Given the description of an element on the screen output the (x, y) to click on. 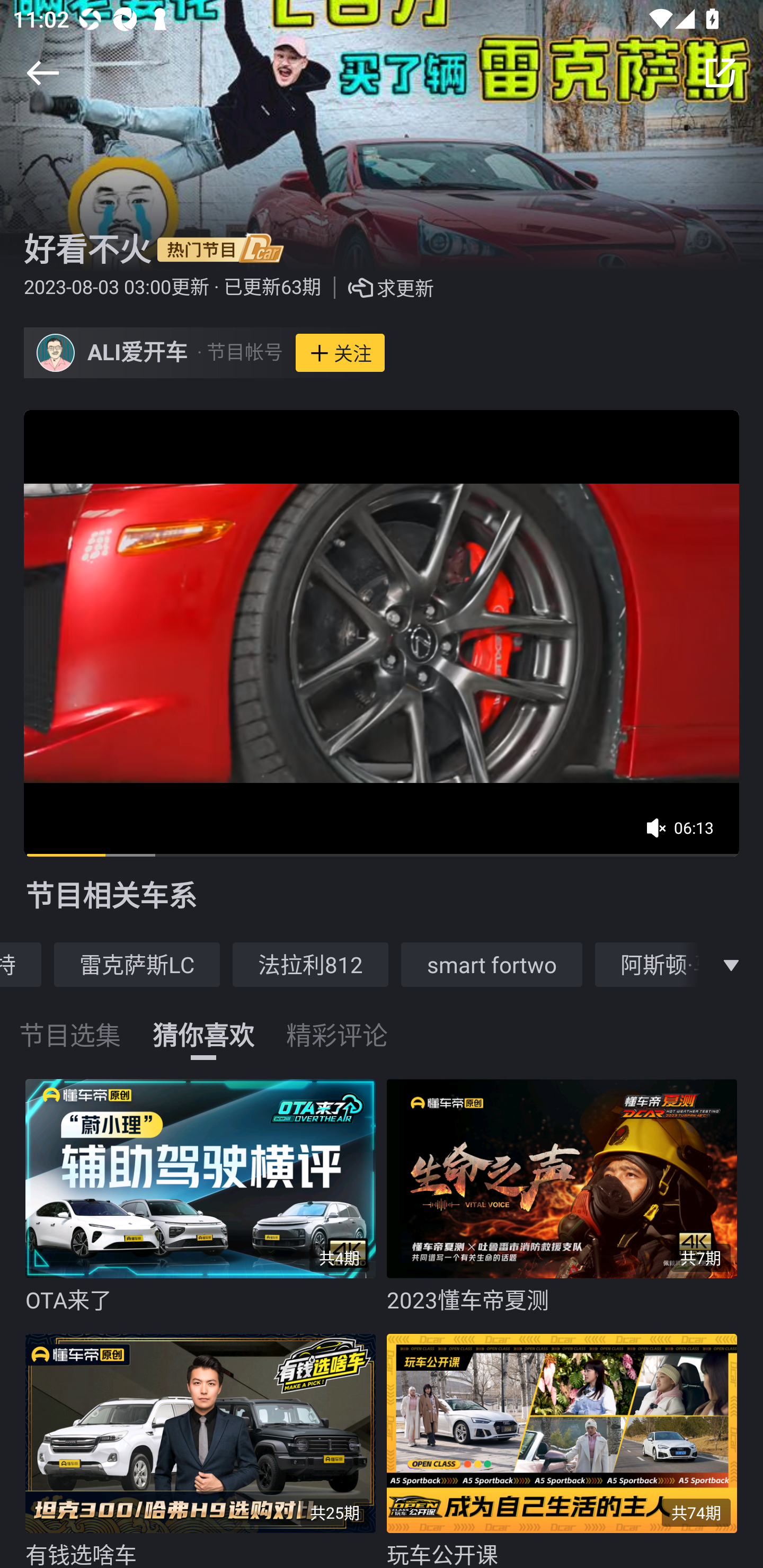
 (42, 72)
 (720, 72)
 求更新 (377, 287)
ALI爱开车 (137, 352)
· 节目帐号 (239, 352)
 关注 (340, 352)
06:13 (685, 834)
 (731, 963)
雷克萨斯LC (136, 964)
法拉利812 (310, 964)
smart fortwo (491, 964)
节目选集 (69, 1023)
猜你喜欢 (203, 1023)
精彩评论 (336, 1023)
共4期 OTA来了 (205, 1196)
共7期 2023懂车帝夏测 (567, 1196)
共25期 有钱选啥车 (205, 1446)
共74期 玩车公开课 (567, 1446)
